Given the description of an element on the screen output the (x, y) to click on. 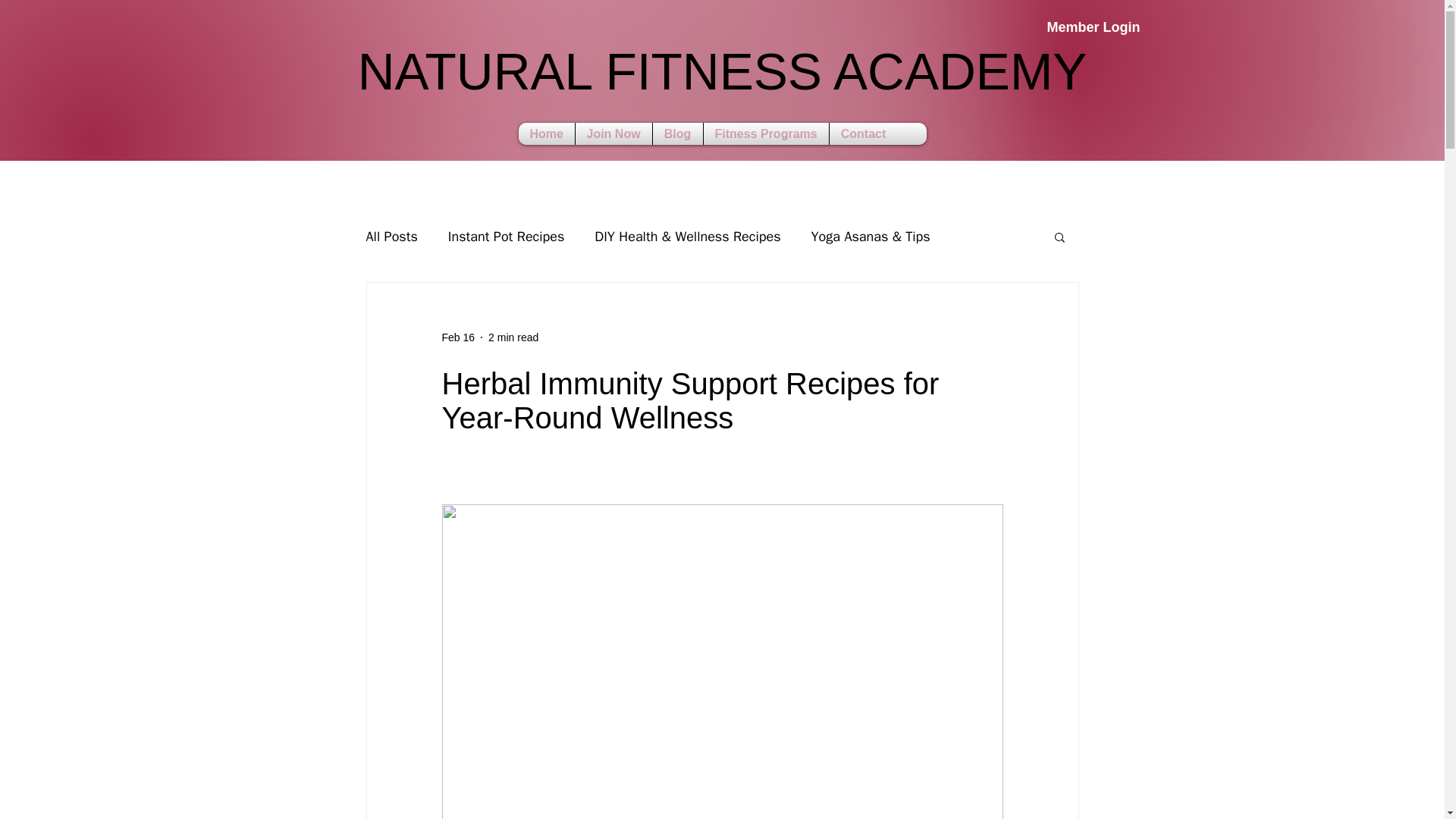
Fitness Programs (765, 133)
All Posts (721, 80)
Member Login (390, 236)
Join Now (1064, 28)
Home (613, 133)
Blog (545, 133)
Contact (677, 133)
Feb 16 (862, 133)
2 min read (457, 336)
